Given the description of an element on the screen output the (x, y) to click on. 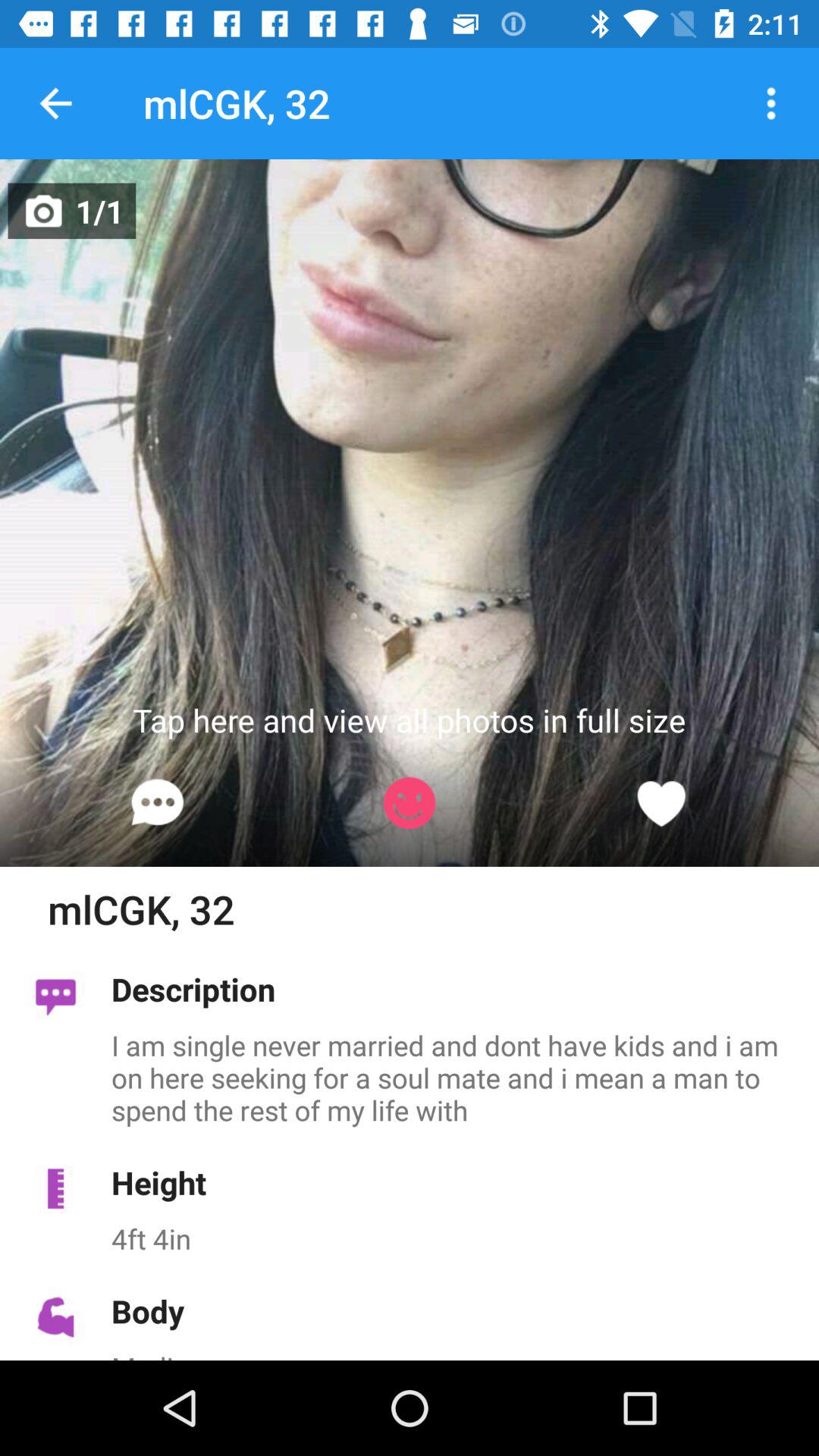
turn off the icon below body icon (457, 1354)
